Given the description of an element on the screen output the (x, y) to click on. 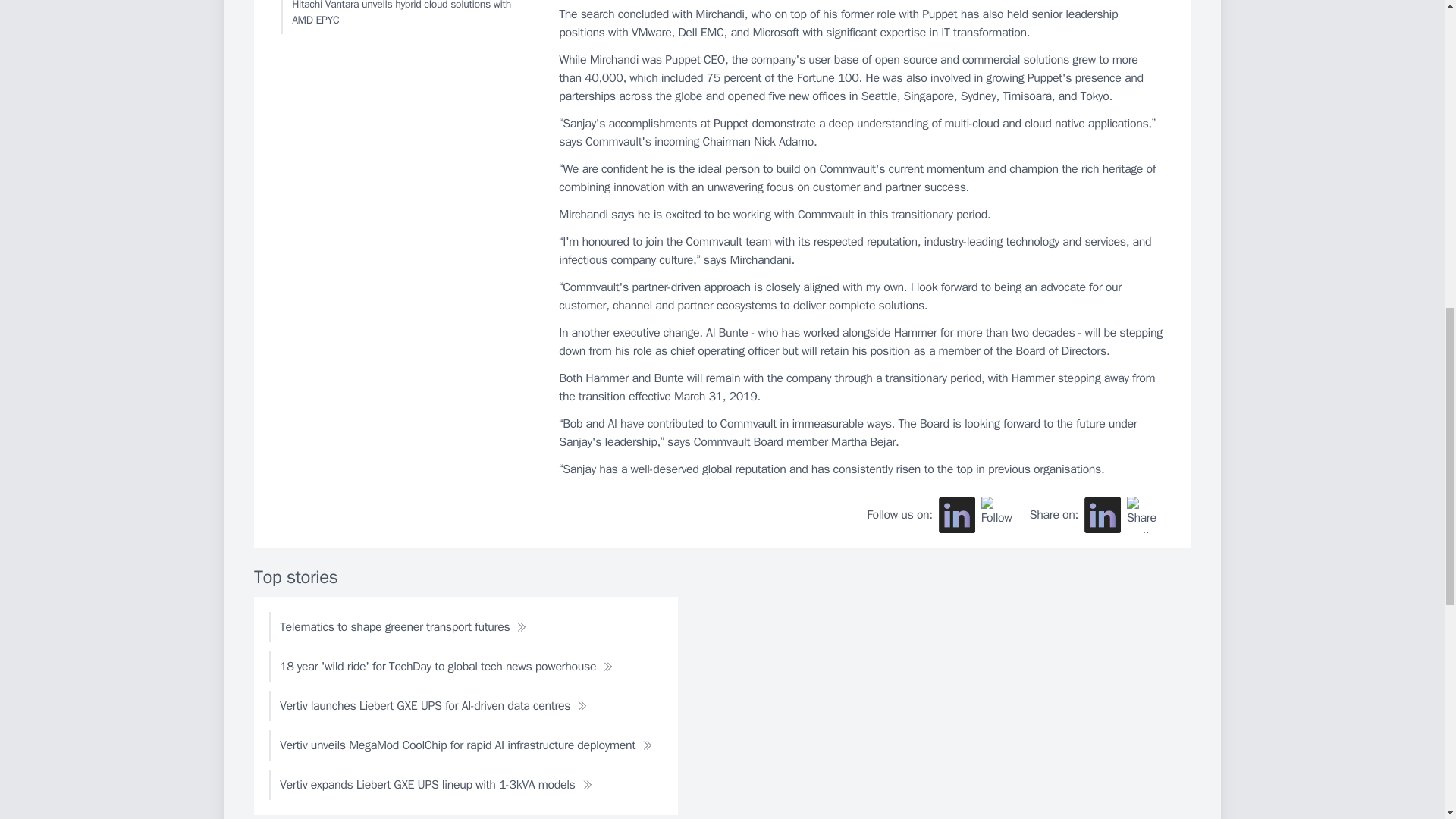
Vertiv expands Liebert GXE UPS lineup with 1-3kVA models (435, 784)
Vertiv launches Liebert GXE UPS for AI-driven data centres (432, 706)
Hitachi Vantara unveils hybrid cloud solutions with AMD EPYC (406, 17)
Telematics to shape greener transport futures (403, 626)
